Given the description of an element on the screen output the (x, y) to click on. 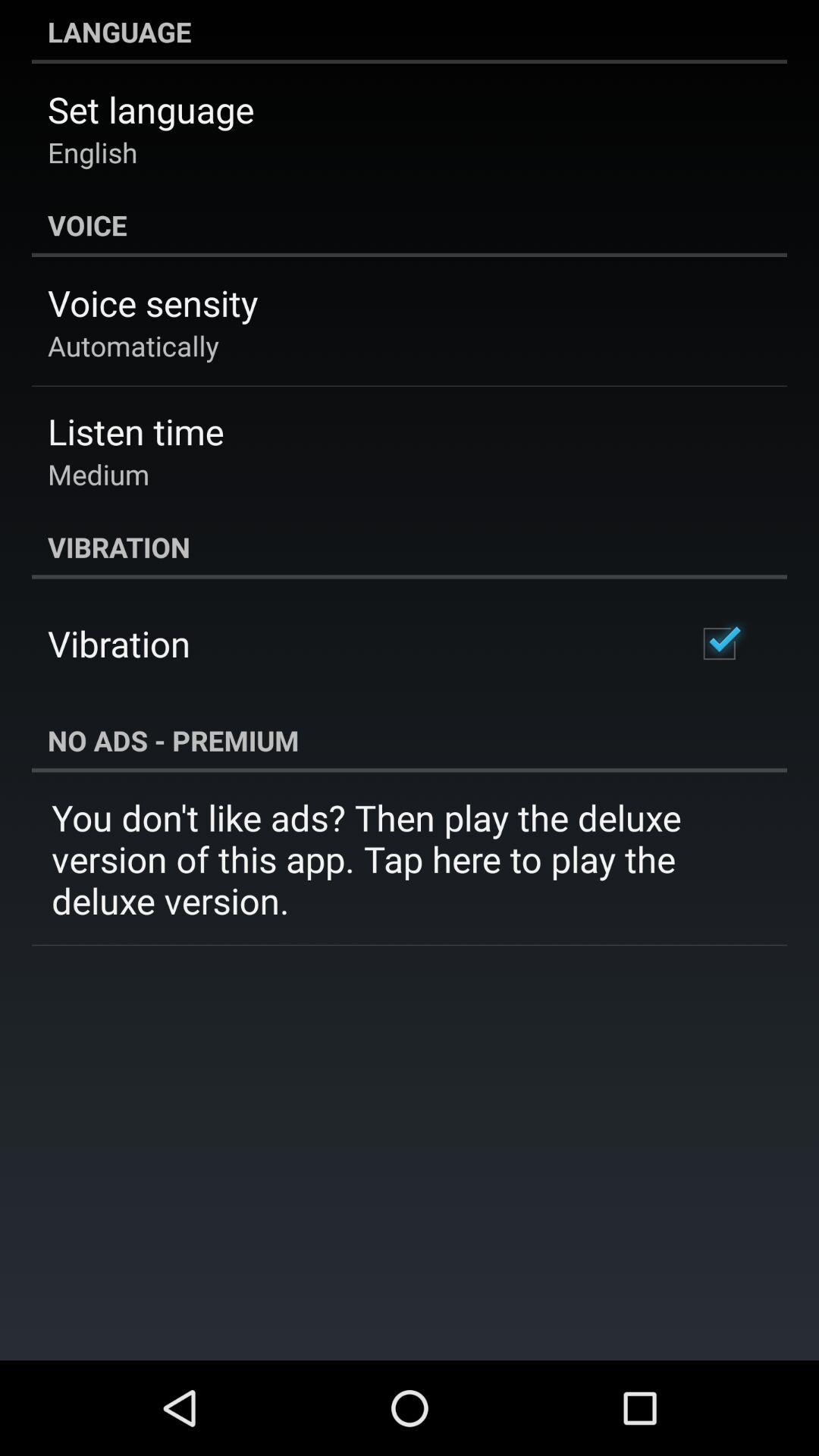
turn on voice sensity (152, 302)
